Given the description of an element on the screen output the (x, y) to click on. 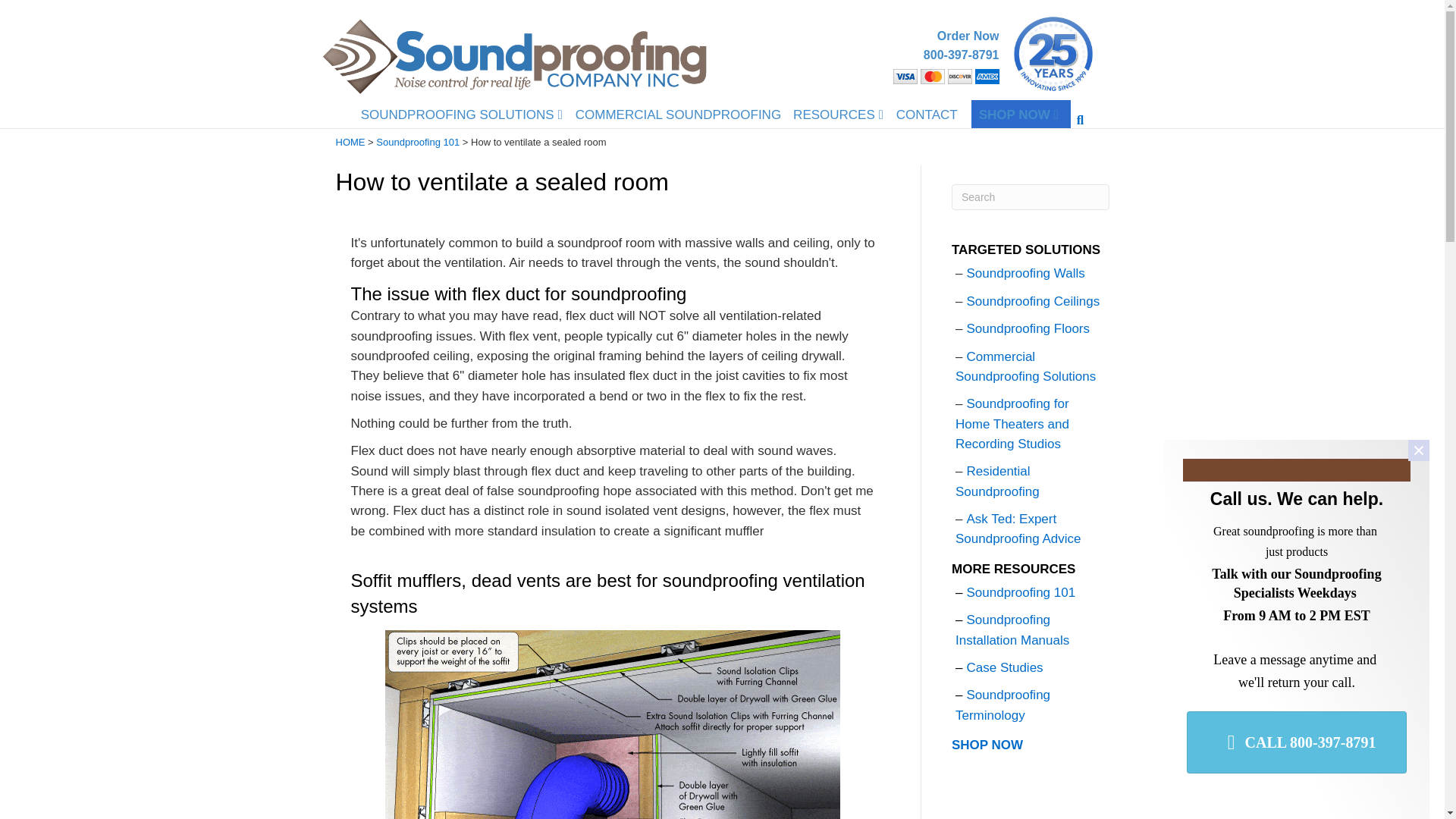
SHOP NOW (1016, 113)
COMMERCIAL SOUNDPROOFING (678, 113)
Type and press Enter to search. (1030, 196)
Order Now (941, 55)
Close (941, 55)
ORDER NOW (1418, 450)
SOUNDPROOFING SOLUTIONS (941, 55)
Soundproofing 101 (457, 113)
CALL  800-397-8791 (417, 142)
CONTACT (1296, 742)
HOME (926, 113)
Soffit mufflers for ventilation (349, 142)
RESOURCES (612, 724)
